Given the description of an element on the screen output the (x, y) to click on. 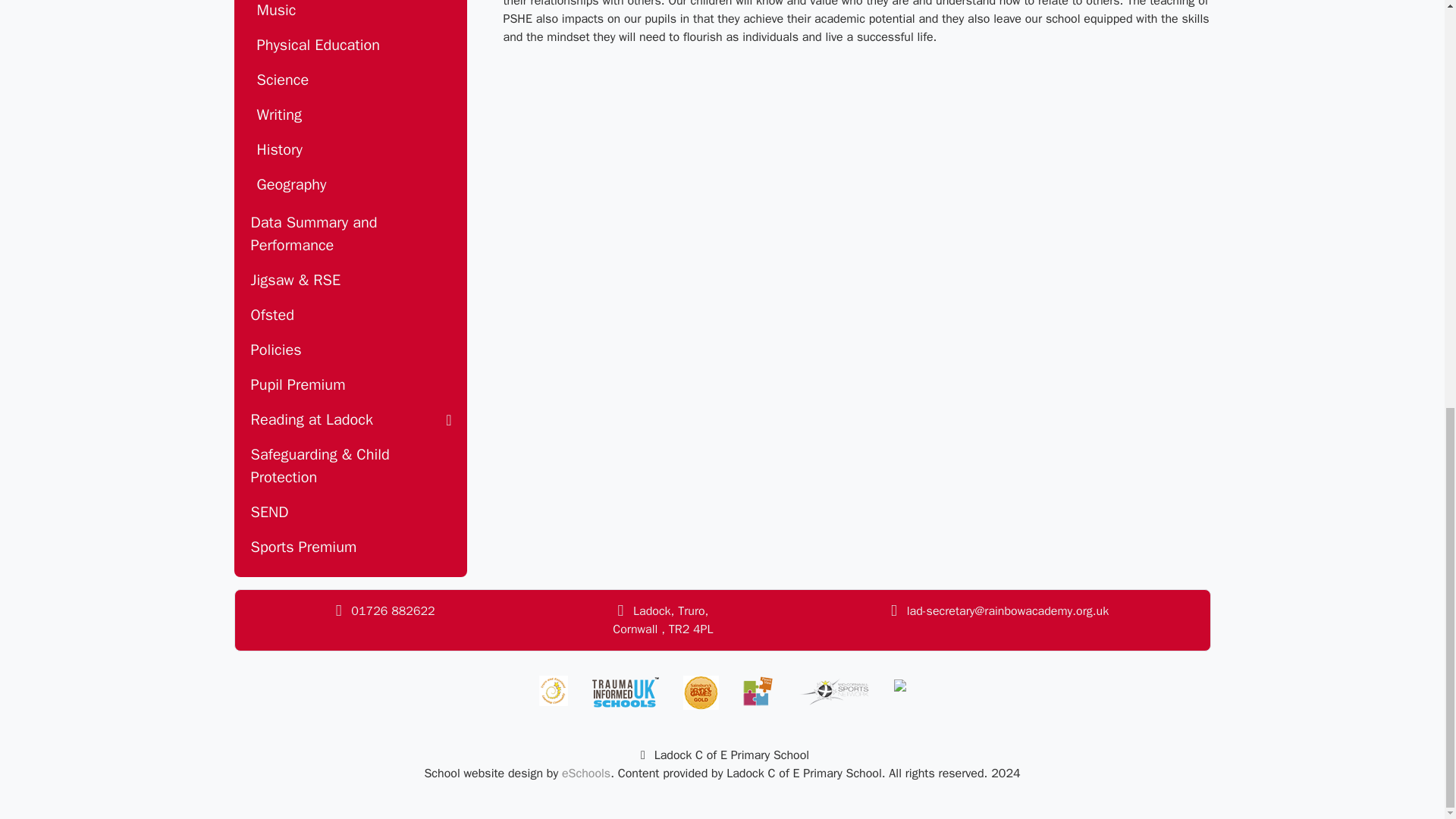
Parent View (757, 690)
Trauma Informed (624, 692)
Mid-Cornwall Sports Network (833, 690)
School Games Gold (699, 692)
Truro and Roseland Learning Community (552, 690)
